Given the description of an element on the screen output the (x, y) to click on. 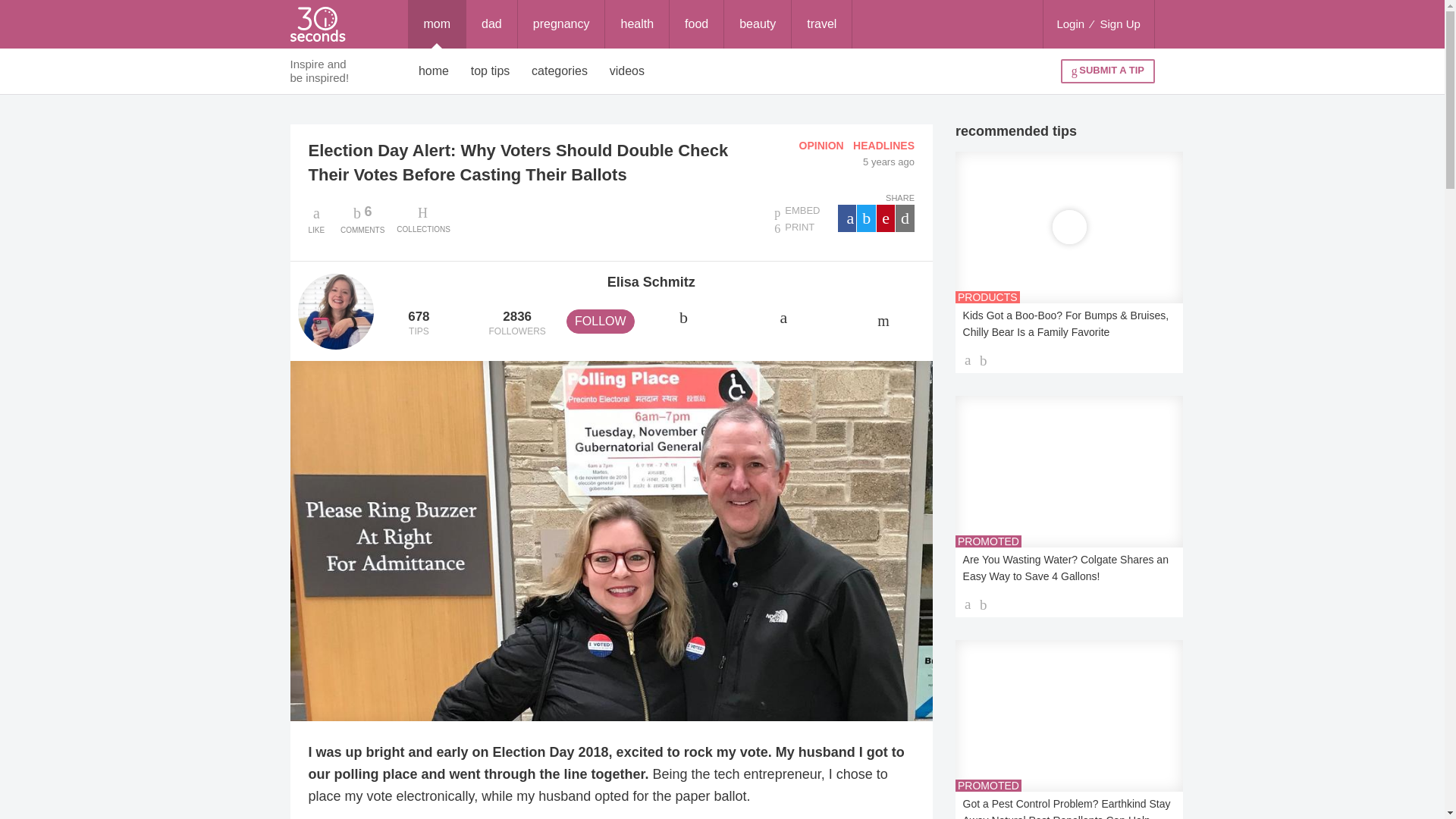
pregnancy (561, 24)
mom (436, 24)
travel (821, 24)
beauty (756, 24)
Login (1069, 23)
dad (490, 24)
home (433, 71)
top tips (489, 71)
Sign Up (362, 218)
food (1120, 23)
categories (696, 24)
health (559, 71)
